Given the description of an element on the screen output the (x, y) to click on. 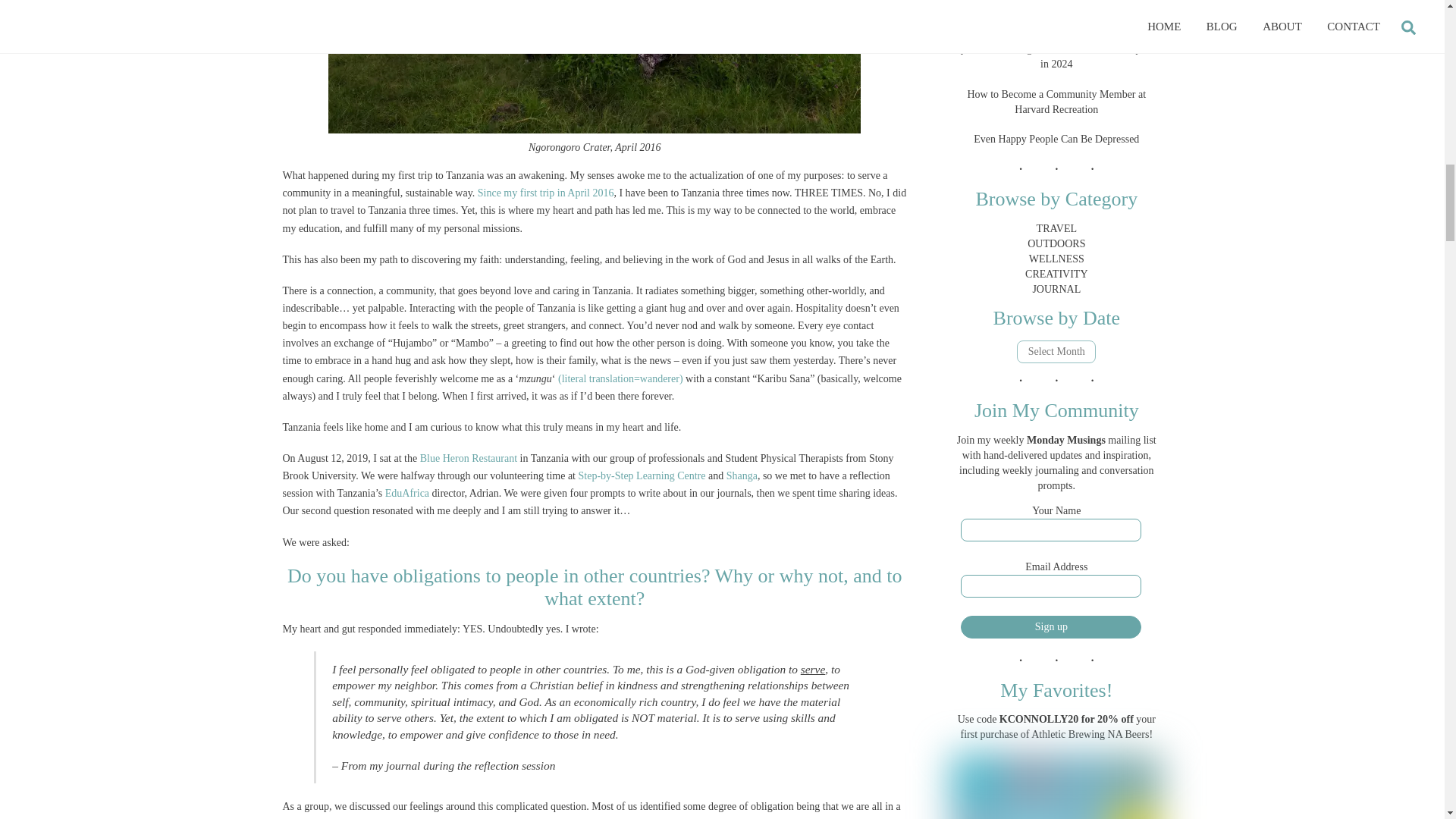
Shanga (741, 475)
EduAfrica (408, 492)
Since my first trip in April 2016 (545, 193)
Step-by-Step Learning Centre (641, 475)
Sign up (1050, 626)
Blue Heron Restaurant (468, 458)
